Given the description of an element on the screen output the (x, y) to click on. 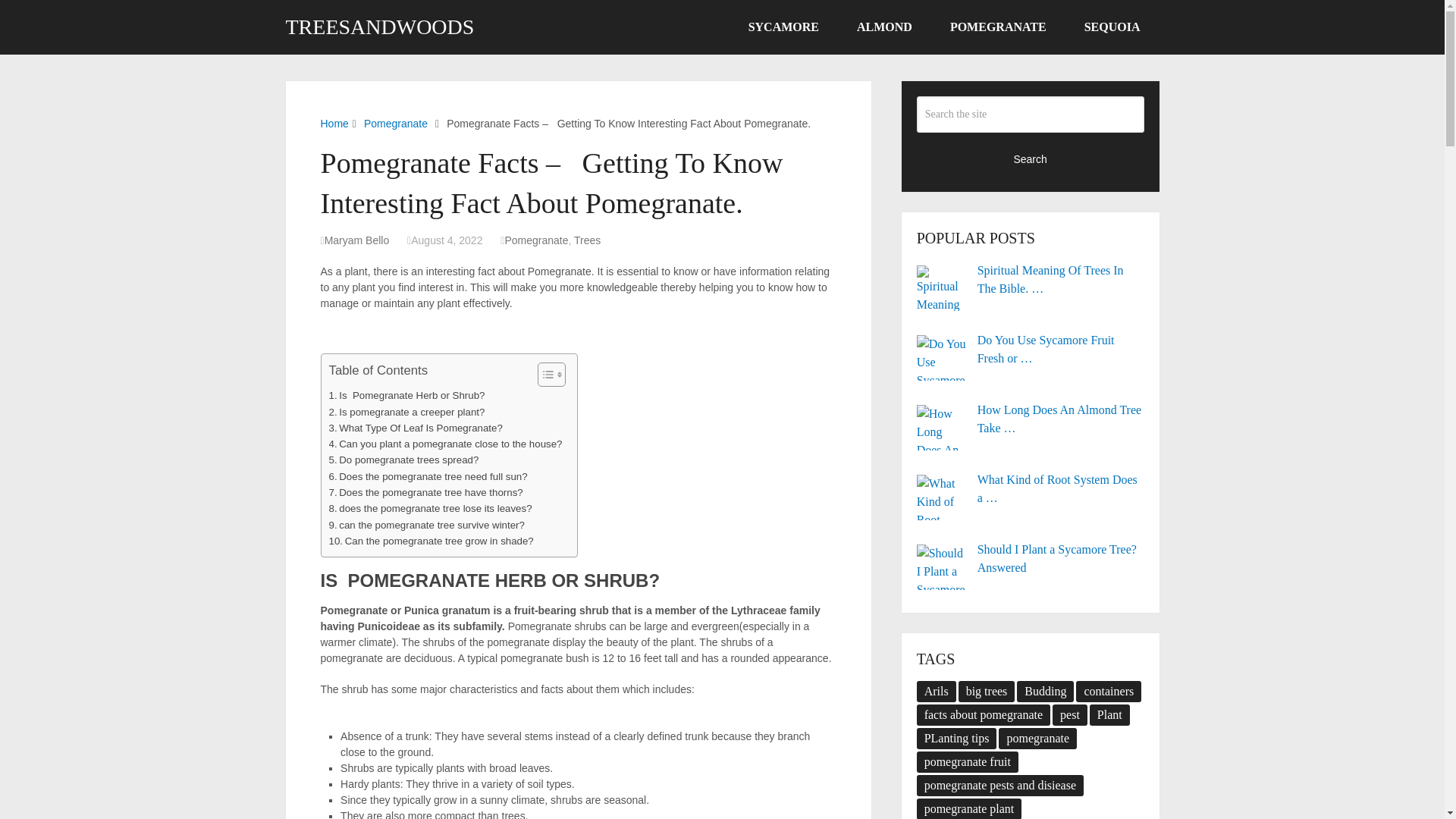
Does the pomegranate tree need full sun? (428, 476)
Do pomegranate trees spread? (404, 459)
View all posts in Trees (586, 240)
Pomegranate (396, 123)
does the pomegranate tree lose its leaves? (430, 508)
Is  Pomegranate Herb or Shrub? (406, 395)
Can you plant a pomegranate close to the house? (445, 443)
Can you plant a pomegranate close to the house? (445, 443)
Does the pomegranate tree need full sun? (428, 476)
